Given the description of an element on the screen output the (x, y) to click on. 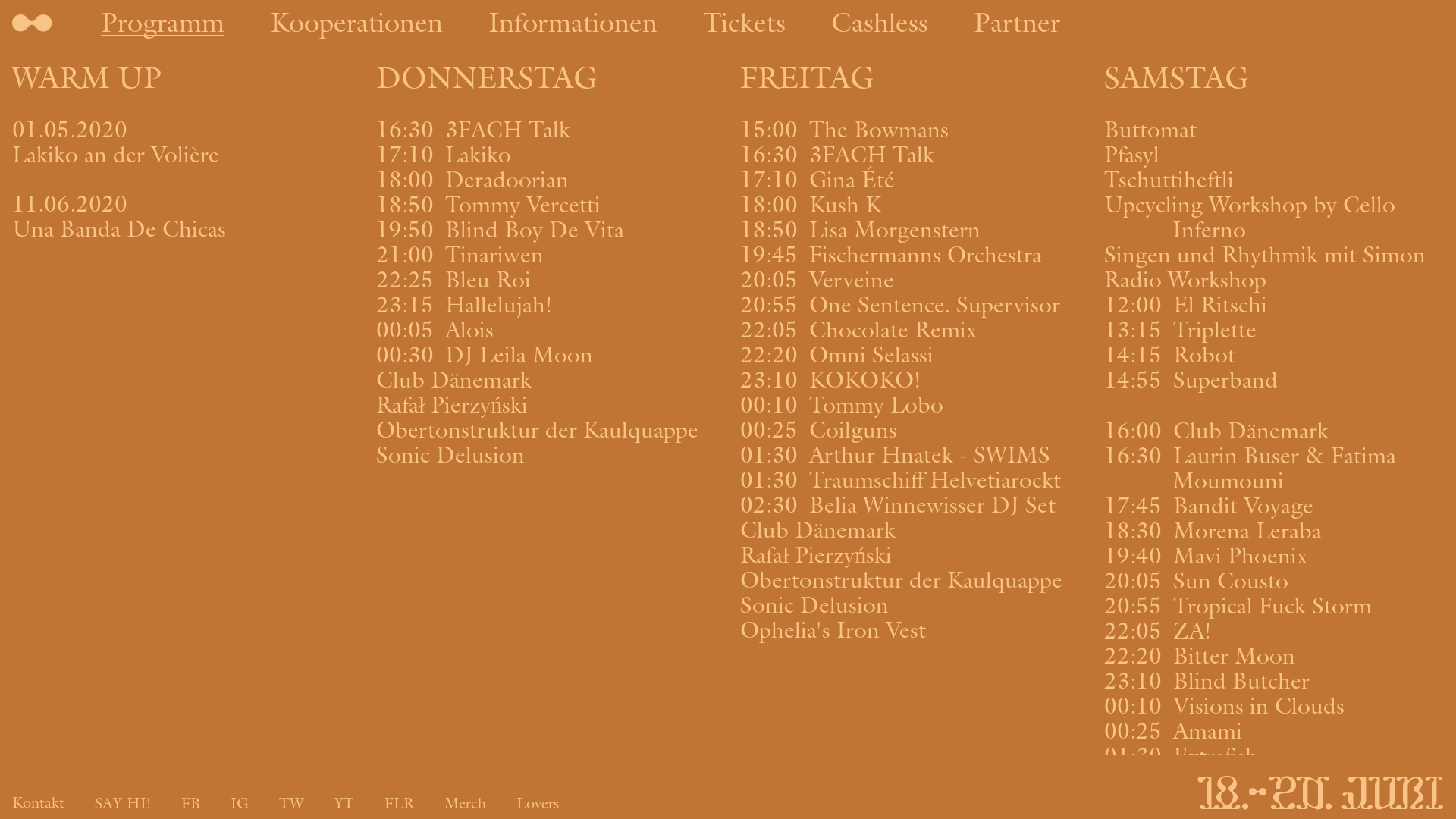
Sonic Delusion Element type: text (545, 454)
16:303FACH Talk Element type: text (545, 128)
20:05Sun Cousto Element type: text (1273, 580)
13:15Triplette Element type: text (1273, 329)
Cashless Element type: text (879, 23)
00:10Tommy Lobo Element type: text (909, 404)
00:30DJ Leila Moon Element type: text (545, 354)
TW Element type: text (291, 802)
19:50Blind Boy De Vita Element type: text (545, 228)
22:20Omni Selassi Element type: text (909, 354)
16:303FACH Talk Element type: text (909, 153)
22:05ZA! Element type: text (1273, 630)
IG Element type: text (239, 802)
19:45Fischermanns Orchestra Element type: text (909, 253)
Lovers Element type: text (537, 802)
15:00The Bowmans Element type: text (909, 128)
22:25Bleu Roi Element type: text (545, 278)
YT Element type: text (344, 802)
22:20Bitter Moon Element type: text (1273, 655)
Obertonstruktur der Kaulquappe Element type: text (545, 429)
23:10KOKOKO! Element type: text (909, 379)
Tickets Element type: text (743, 23)
00:25Coilguns Element type: text (909, 429)
Informationen Element type: text (572, 23)
Ophelia's Iron Vest Element type: text (909, 629)
FLR Element type: text (399, 802)
01:30Arthur Hnatek - SWIMS Element type: text (909, 454)
19:40Mavi Phoenix Element type: text (1273, 554)
Tschuttiheftli Element type: text (1273, 178)
11.06.2020
Una Banda De Chicas Element type: text (181, 216)
00:05Alois Element type: text (545, 329)
18:00Deradoorian Element type: text (545, 178)
Kontakt Element type: text (38, 802)
18:50Tommy Vercetti Element type: text (545, 203)
Merch Element type: text (465, 802)
Buttomat Element type: text (1273, 128)
Kooperationen Element type: text (355, 23)
20:55Tropical Fuck Storm Element type: text (1273, 605)
18:00Kush K Element type: text (909, 203)
Sonic Delusion Element type: text (909, 604)
01:30Extrafish Element type: text (1273, 755)
17:10Lakiko Element type: text (545, 153)
22:05Chocolate Remix Element type: text (909, 329)
17:45Bandit Voyage Element type: text (1273, 504)
20:05Verveine Element type: text (909, 278)
Obertonstruktur der Kaulquappe Element type: text (909, 579)
12:00El Ritschi Element type: text (1273, 303)
SAY HI! Element type: text (122, 802)
Programm Element type: text (162, 23)
FB Element type: text (190, 802)
18:50Lisa Morgenstern Element type: text (909, 228)
Singen und Rhythmik mit Simon Element type: text (1273, 253)
Pfasyl Element type: text (1273, 153)
14:55Superband Element type: text (1273, 379)
20:55One Sentence. Supervisor Element type: text (909, 303)
14:15Robot Element type: text (1273, 354)
00:25Amami Element type: text (1273, 730)
23:10Blind Butcher Element type: text (1273, 680)
18:30Morena Leraba Element type: text (1273, 529)
02:30Belia Winnewisser DJ Set Element type: text (909, 504)
16:30Laurin Buser & Fatima Moumouni Element type: text (1273, 467)
Upcycling Workshop by Cello Inferno Element type: text (1273, 216)
00:10Visions in Clouds Element type: text (1273, 705)
23:15Hallelujah! Element type: text (545, 303)
Partner Element type: text (1016, 23)
Radio Workshop Element type: text (1273, 278)
01:30Traumschiff Helvetiarockt Element type: text (909, 479)
21:00Tinariwen Element type: text (545, 253)
